Given the description of an element on the screen output the (x, y) to click on. 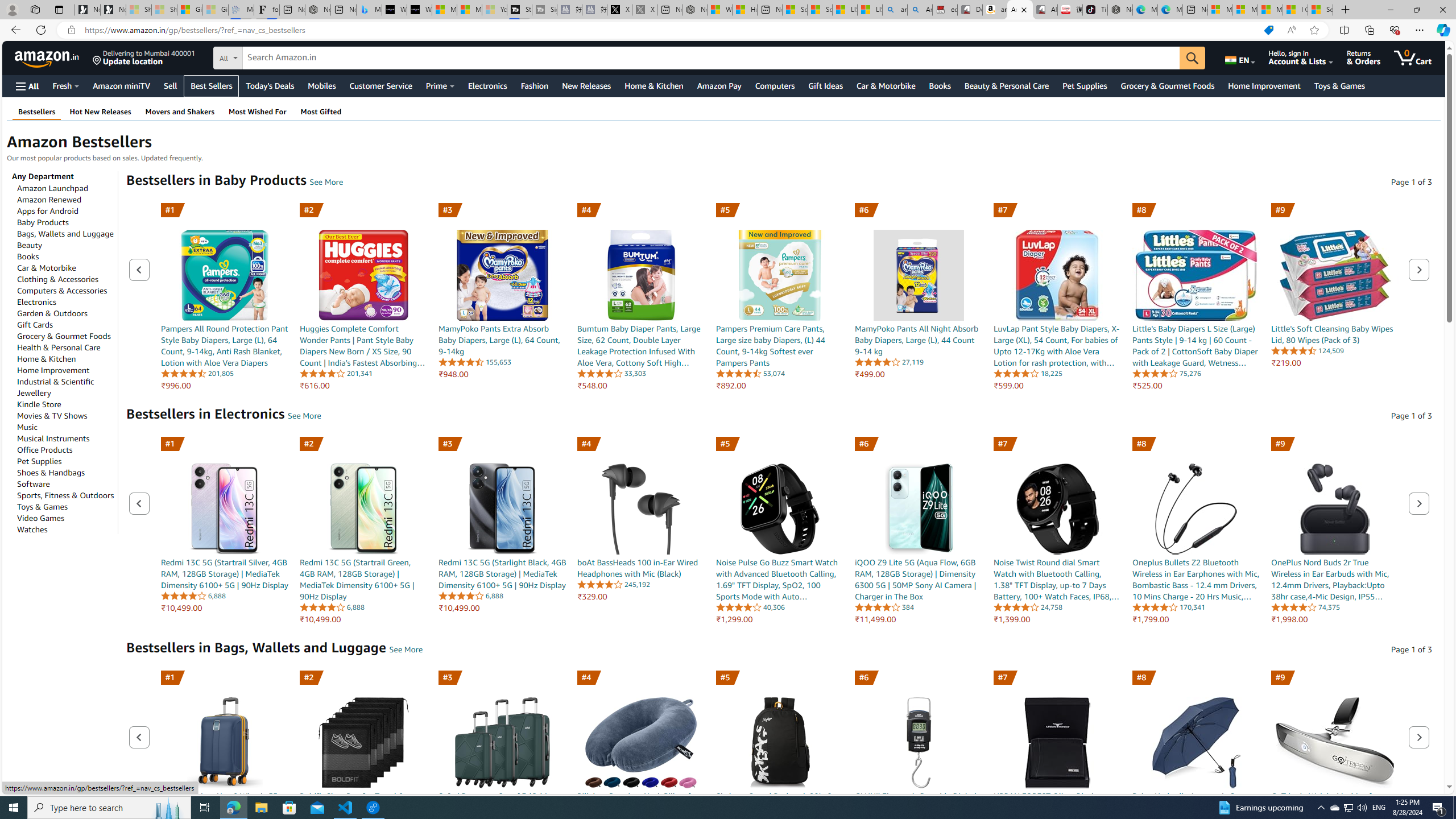
Shopping in Microsoft Edge (1268, 29)
Hot New Releases (100, 111)
Microsoft Start Sports (443, 9)
Books (28, 256)
Movies & TV Shows (52, 415)
Watches (32, 529)
